Given the description of an element on the screen output the (x, y) to click on. 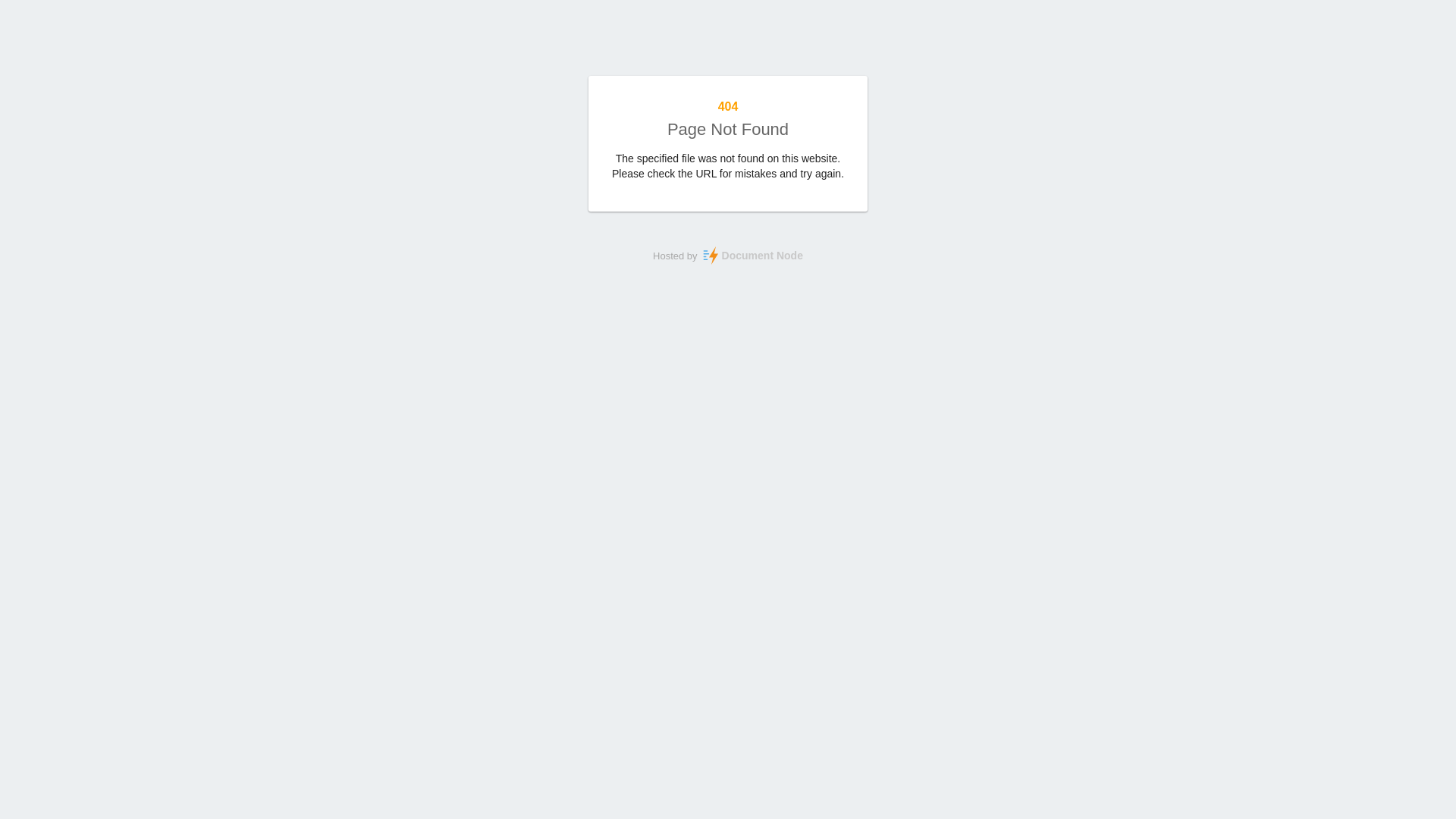
Document Node Element type: text (750, 255)
